Given the description of an element on the screen output the (x, y) to click on. 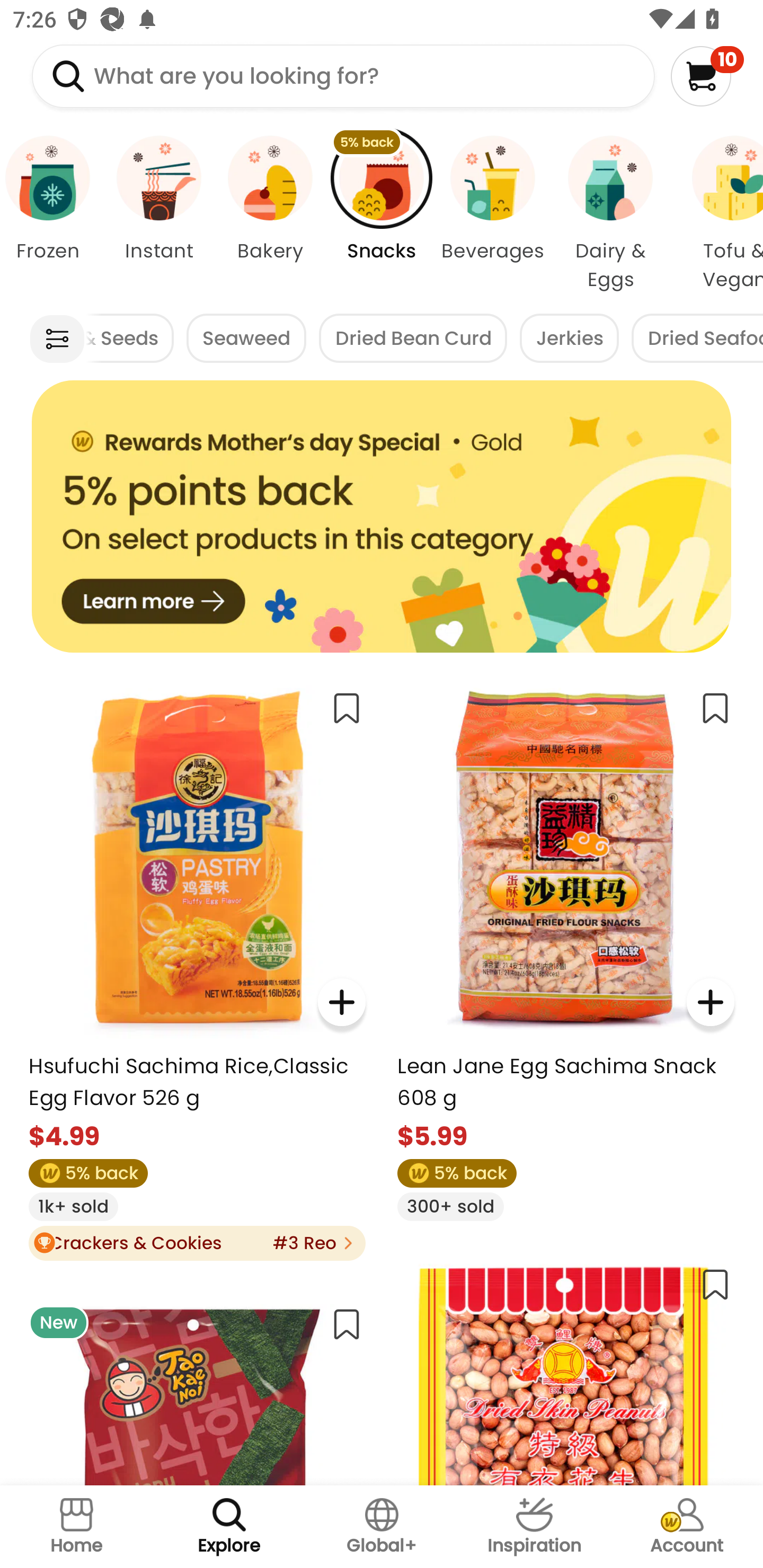
What are you looking for? (343, 75)
10 (706, 75)
Frozen (51, 214)
Instant (158, 214)
Bakery (269, 214)
5% back Snacks (381, 214)
Beverages (492, 214)
Dairy & Eggs (610, 214)
Tofu & Vegan (717, 214)
Nuts & Seeds (129, 337)
Seaweed (245, 337)
Dried Bean Curd (412, 337)
Jerkies (568, 337)
Dried Seafood (697, 337)
New (197, 1388)
Home (76, 1526)
Explore (228, 1526)
Global+ (381, 1526)
Inspiration (533, 1526)
Account (686, 1526)
